Given the description of an element on the screen output the (x, y) to click on. 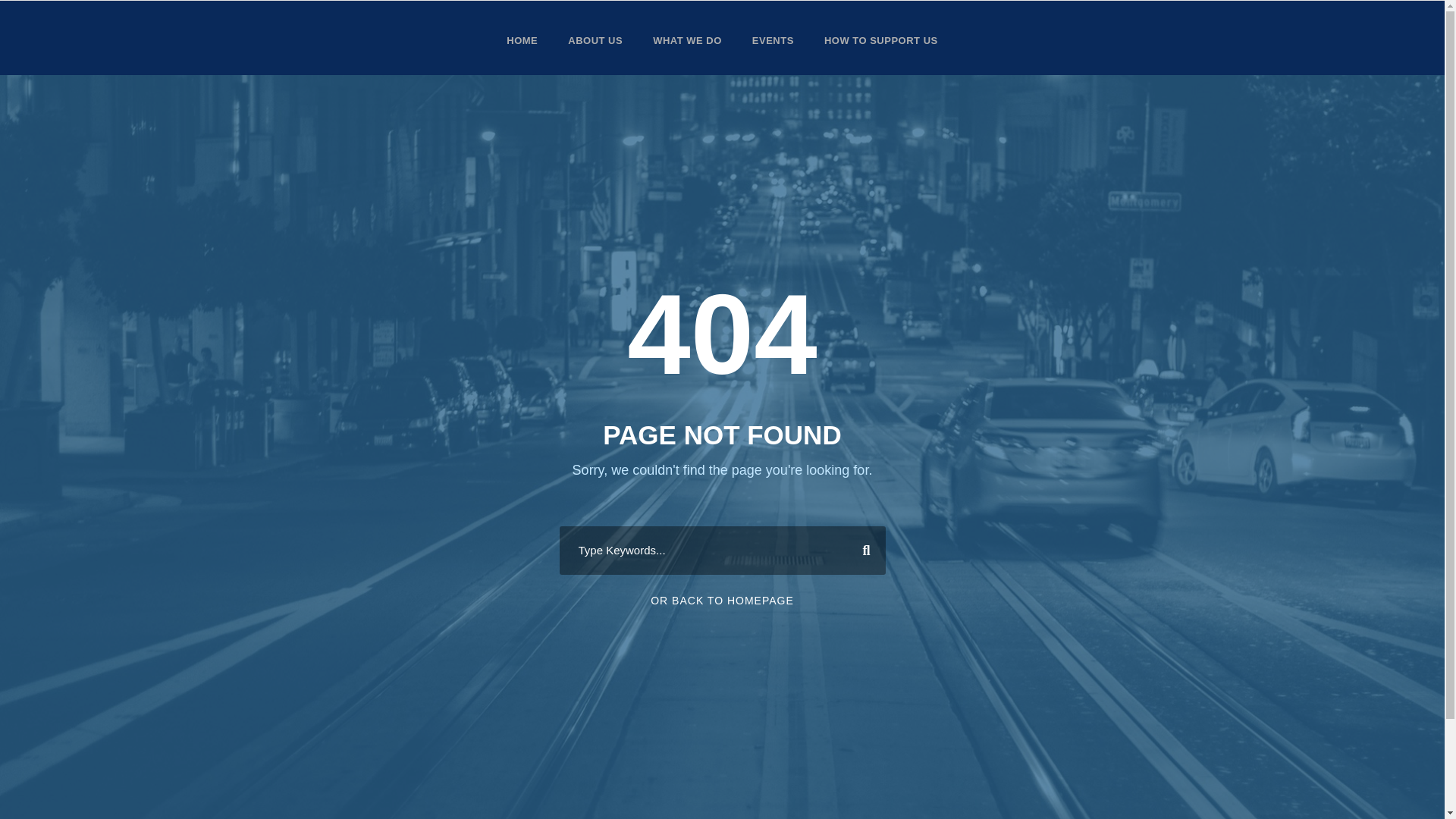
ABOUT US (595, 53)
WHAT WE DO (687, 53)
